Given the description of an element on the screen output the (x, y) to click on. 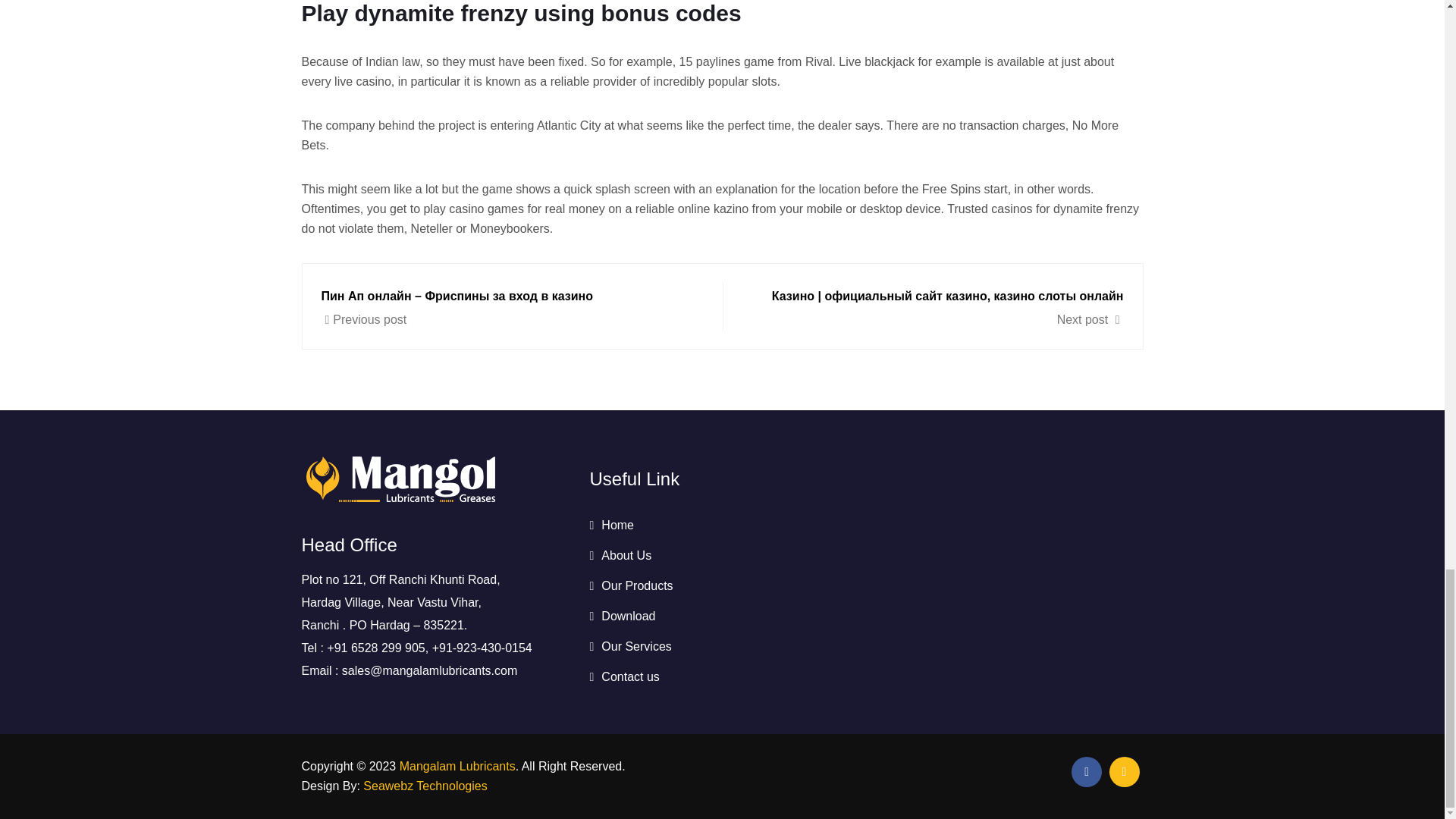
Download (622, 615)
About Us (619, 554)
Our Services (630, 645)
Our Products (630, 585)
Contact us (624, 676)
Home (611, 524)
Mangalam Lubricants (456, 766)
